Given the description of an element on the screen output the (x, y) to click on. 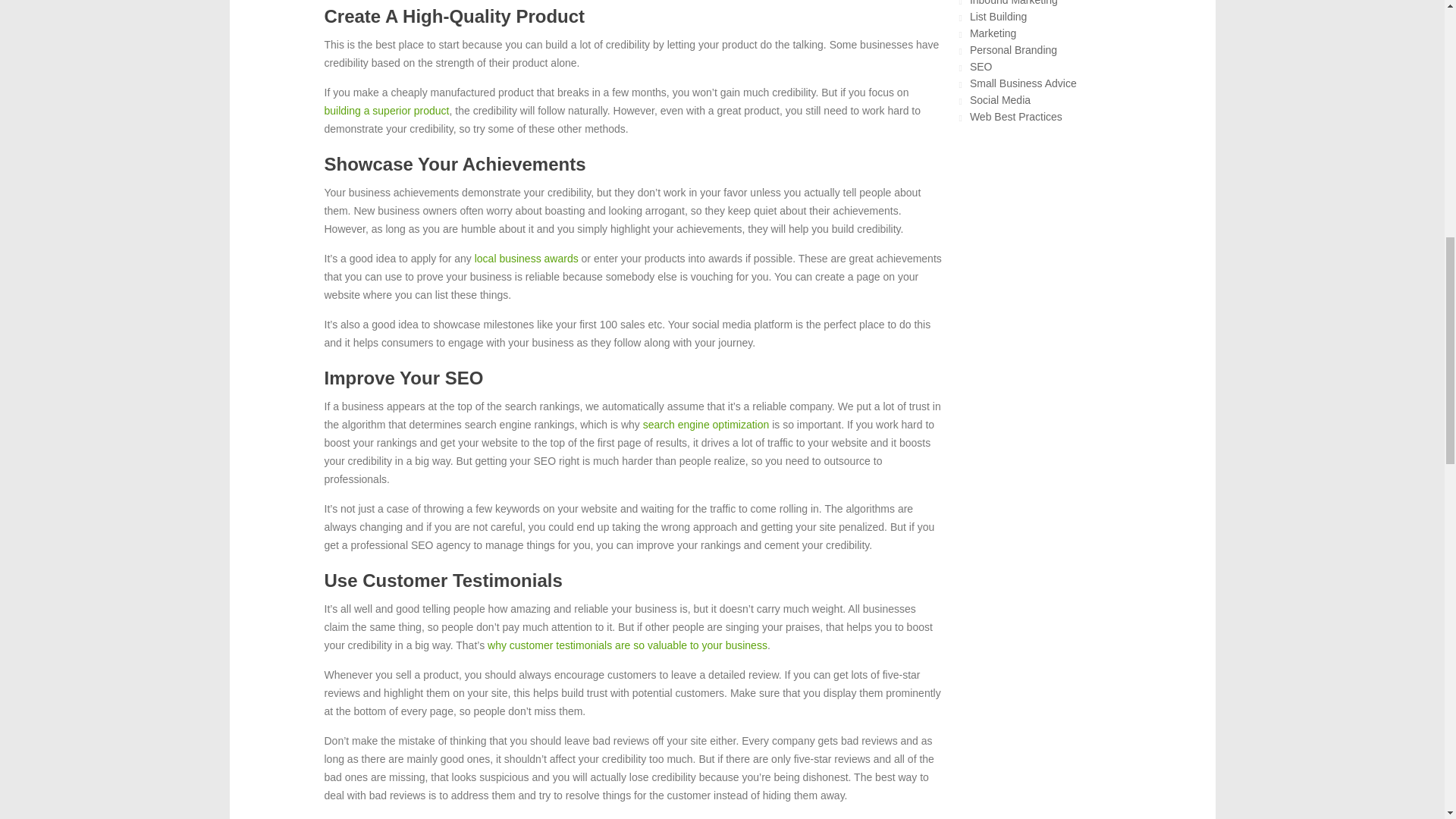
building a superior product (386, 110)
why customer testimonials are so valuable to your business (627, 645)
List Building (998, 16)
local business awards (526, 258)
search engine optimization (706, 424)
Inbound Marketing (1013, 2)
